Given the description of an element on the screen output the (x, y) to click on. 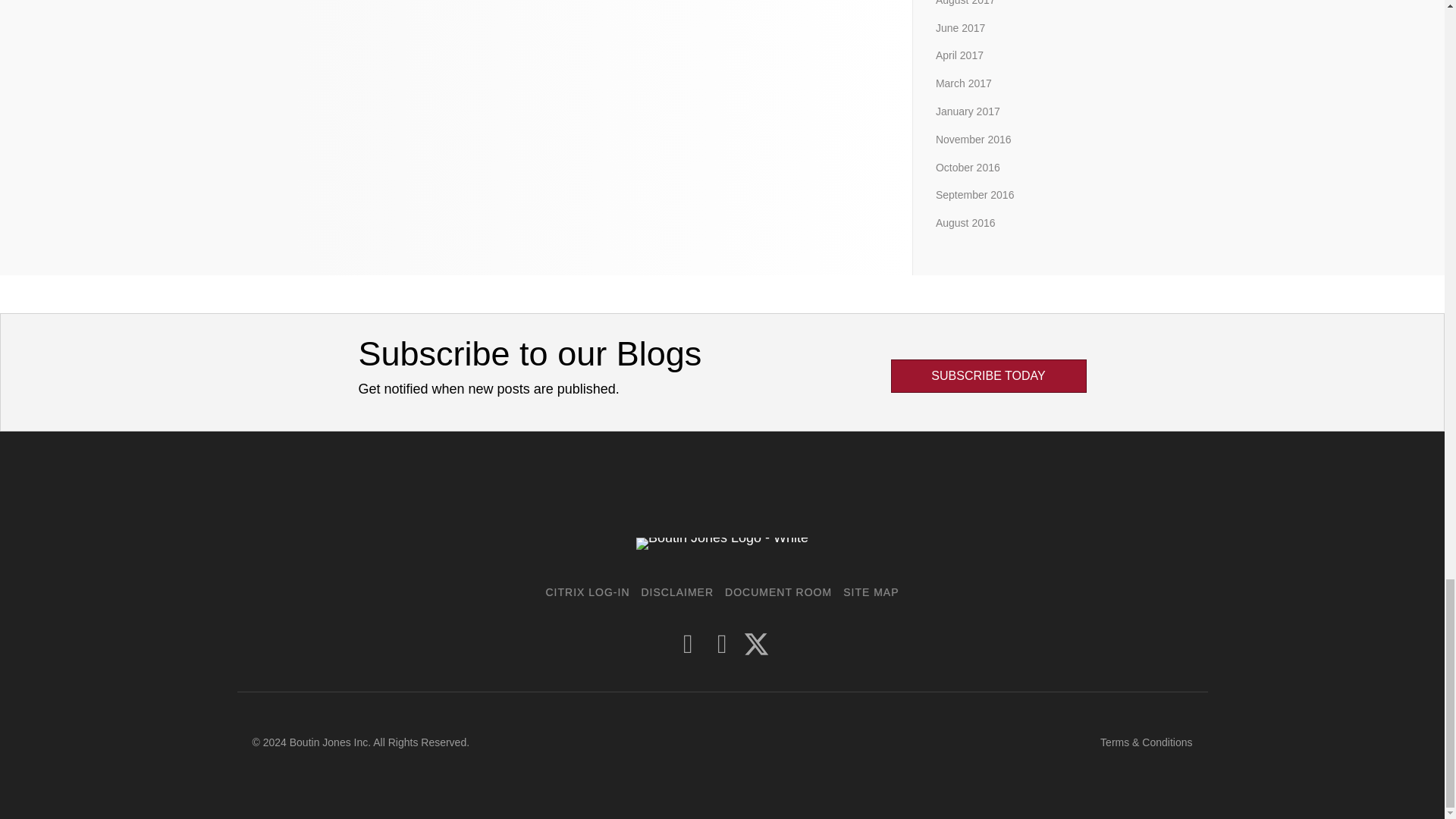
Facebook (688, 643)
LinkedIn (722, 643)
